Given the description of an element on the screen output the (x, y) to click on. 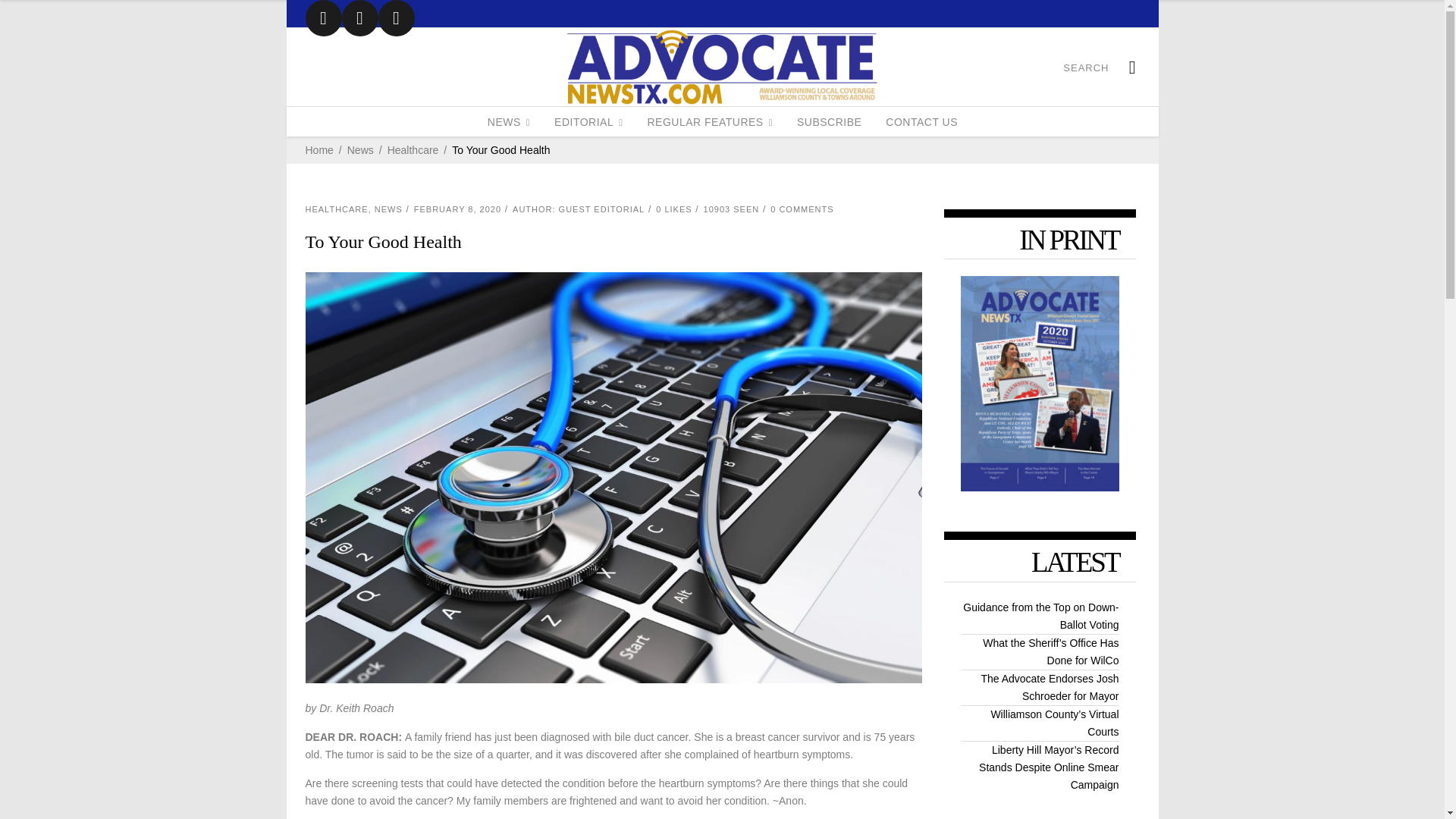
EDITORIAL (587, 121)
SUBSCRIBE (828, 121)
NEWS (508, 121)
CONTACT US (921, 121)
REGULAR FEATURES (709, 121)
